Given the description of an element on the screen output the (x, y) to click on. 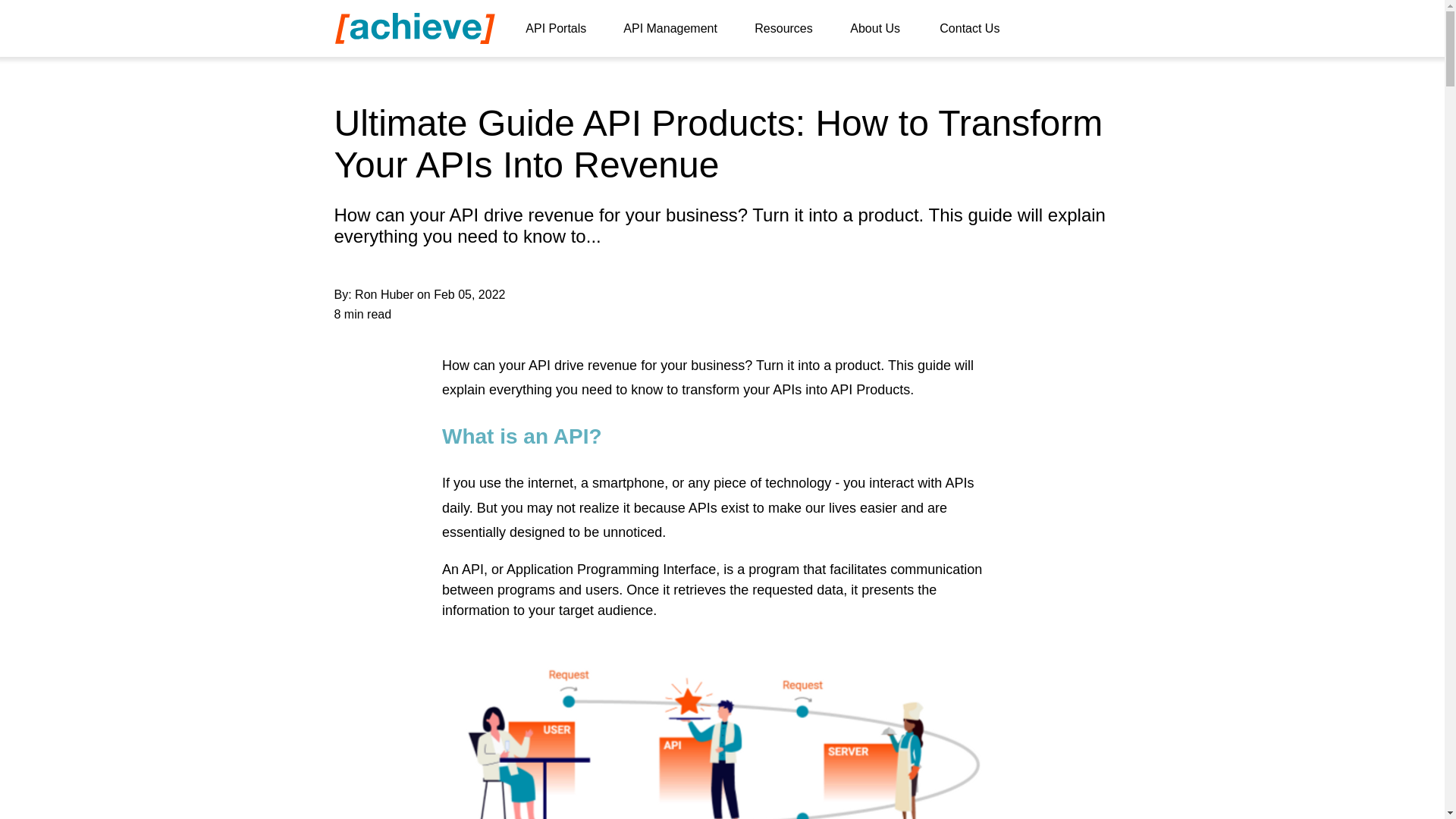
Resources (790, 28)
Contact Us (977, 28)
API Management (676, 28)
API Portals (562, 28)
About Us (883, 28)
